Given the description of an element on the screen output the (x, y) to click on. 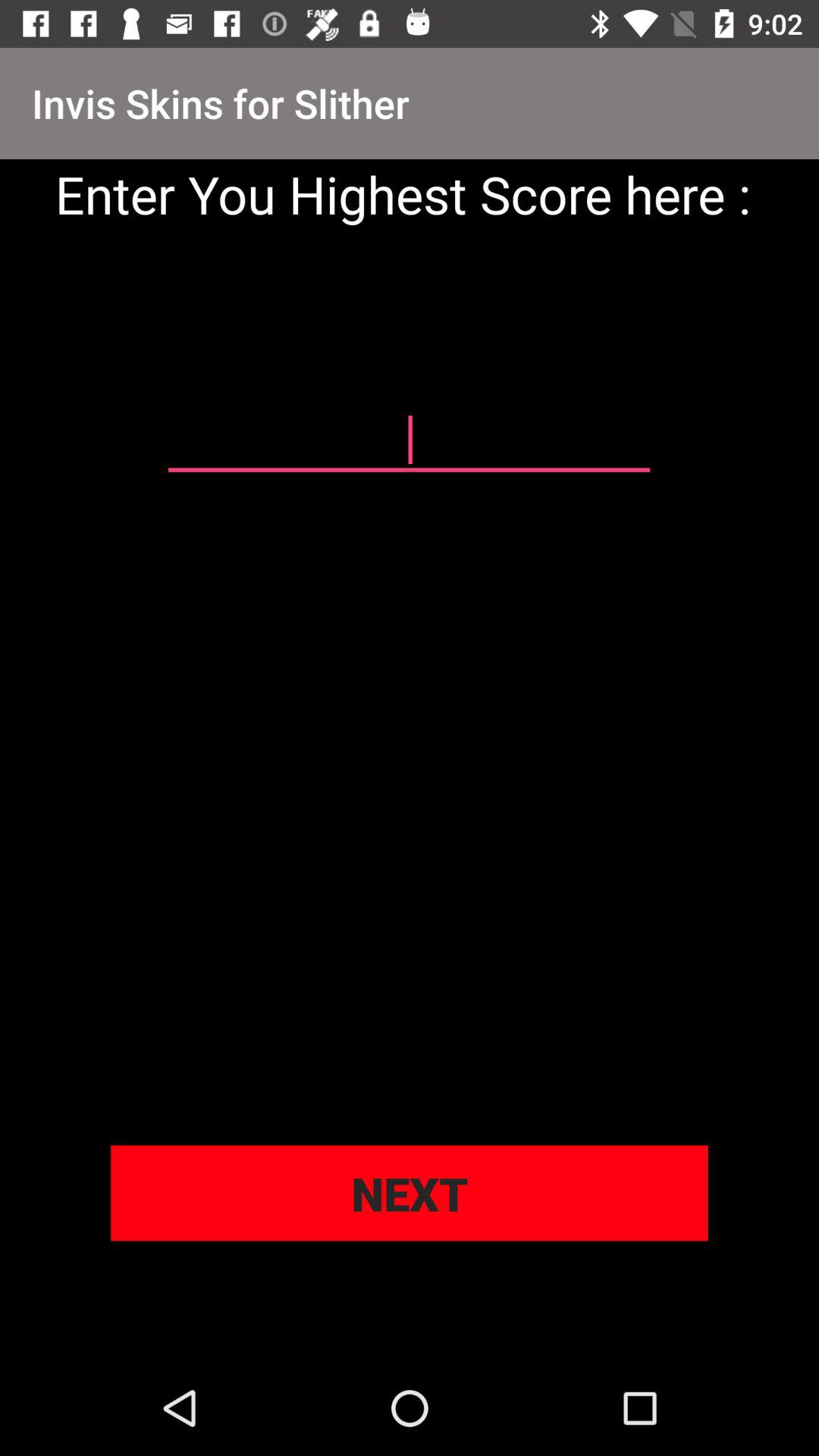
enter high score (409, 440)
